Given the description of an element on the screen output the (x, y) to click on. 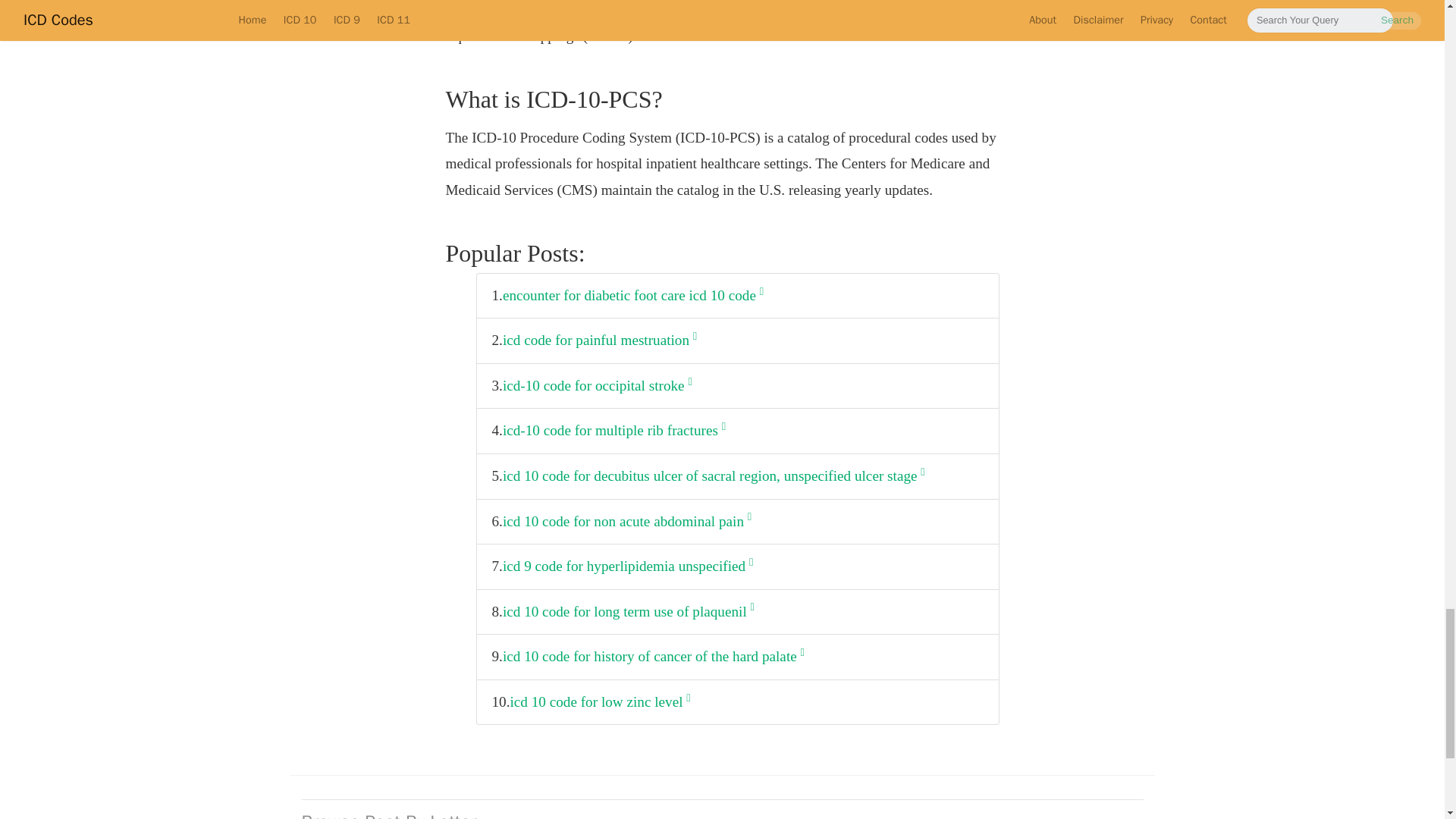
icd 10 code for long term use of plaquenil (628, 611)
icd 10 code for history of cancer of the hard palate (653, 656)
icd-10 code for occipital stroke (597, 386)
icd 10 code for non acute abdominal pain (626, 520)
icd code for painful mestruation (599, 340)
icd code for painful mestruation (599, 340)
icd 10 code for low zinc level (599, 702)
icd 10 code for non acute abdominal pain (626, 520)
